Given the description of an element on the screen output the (x, y) to click on. 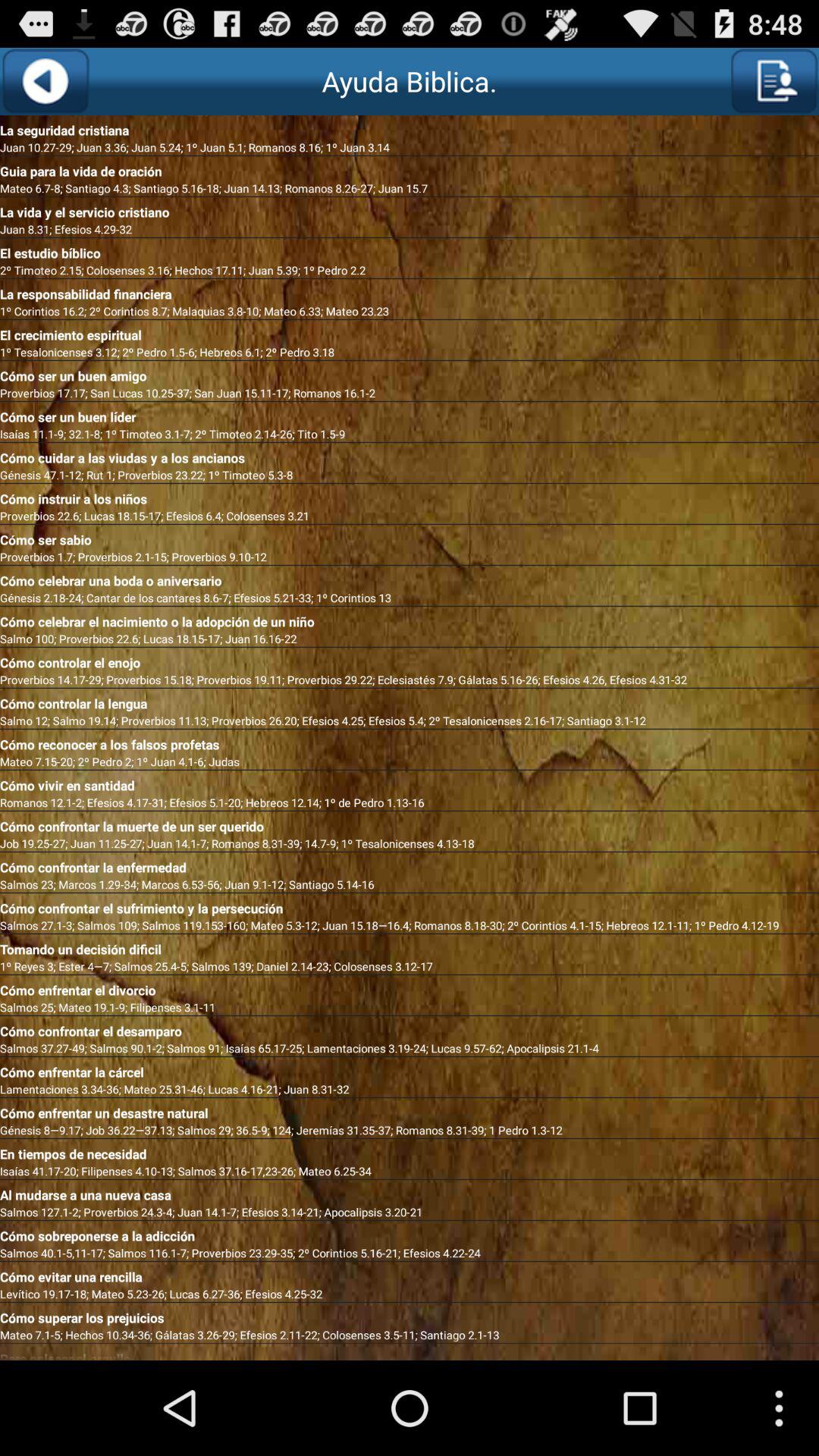
turn off app below the salmo 12 salmo app (409, 741)
